Given the description of an element on the screen output the (x, y) to click on. 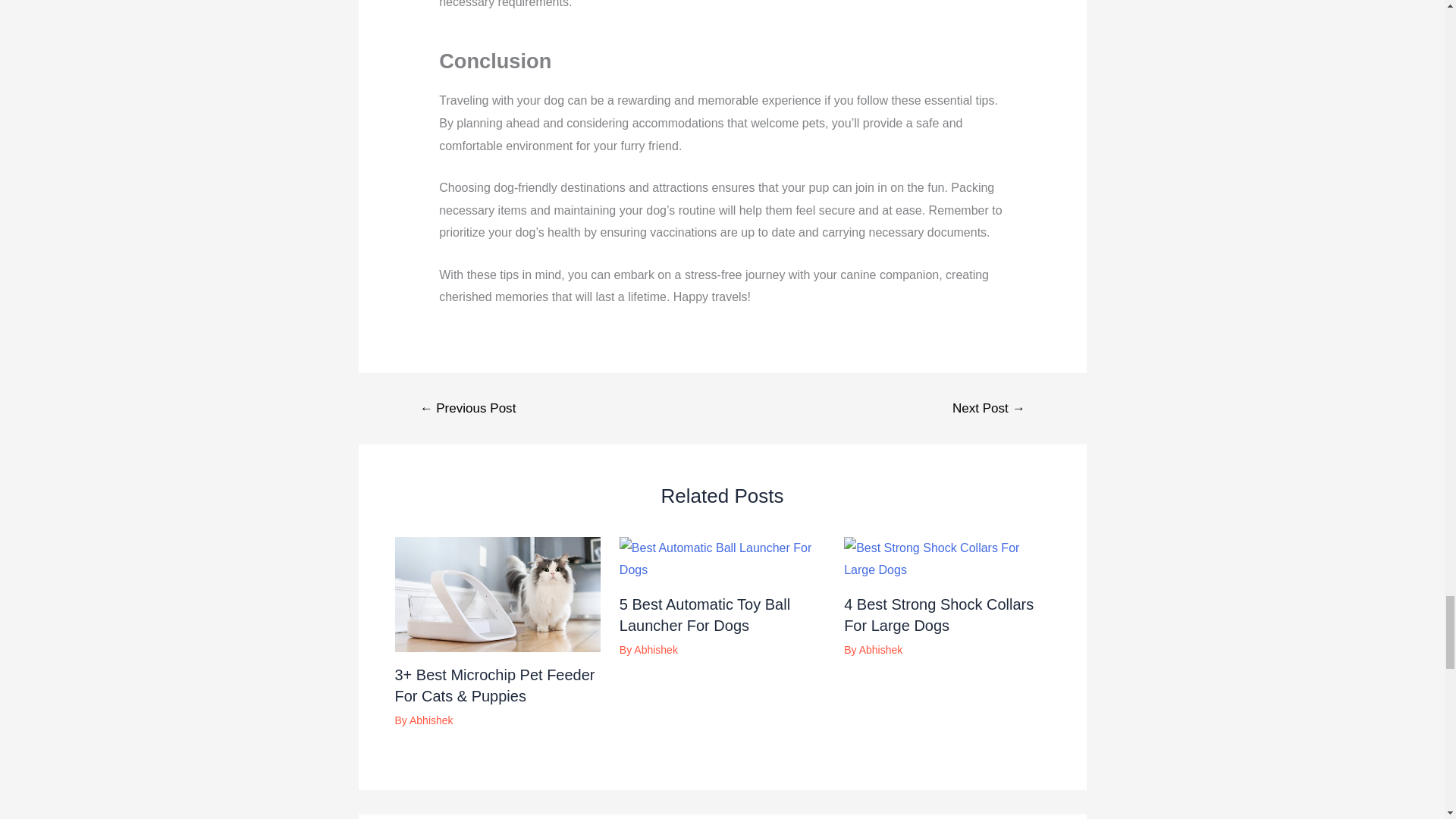
View all posts by Abhishek (655, 649)
View all posts by Abhishek (430, 720)
View all posts by Abhishek (880, 649)
